Given the description of an element on the screen output the (x, y) to click on. 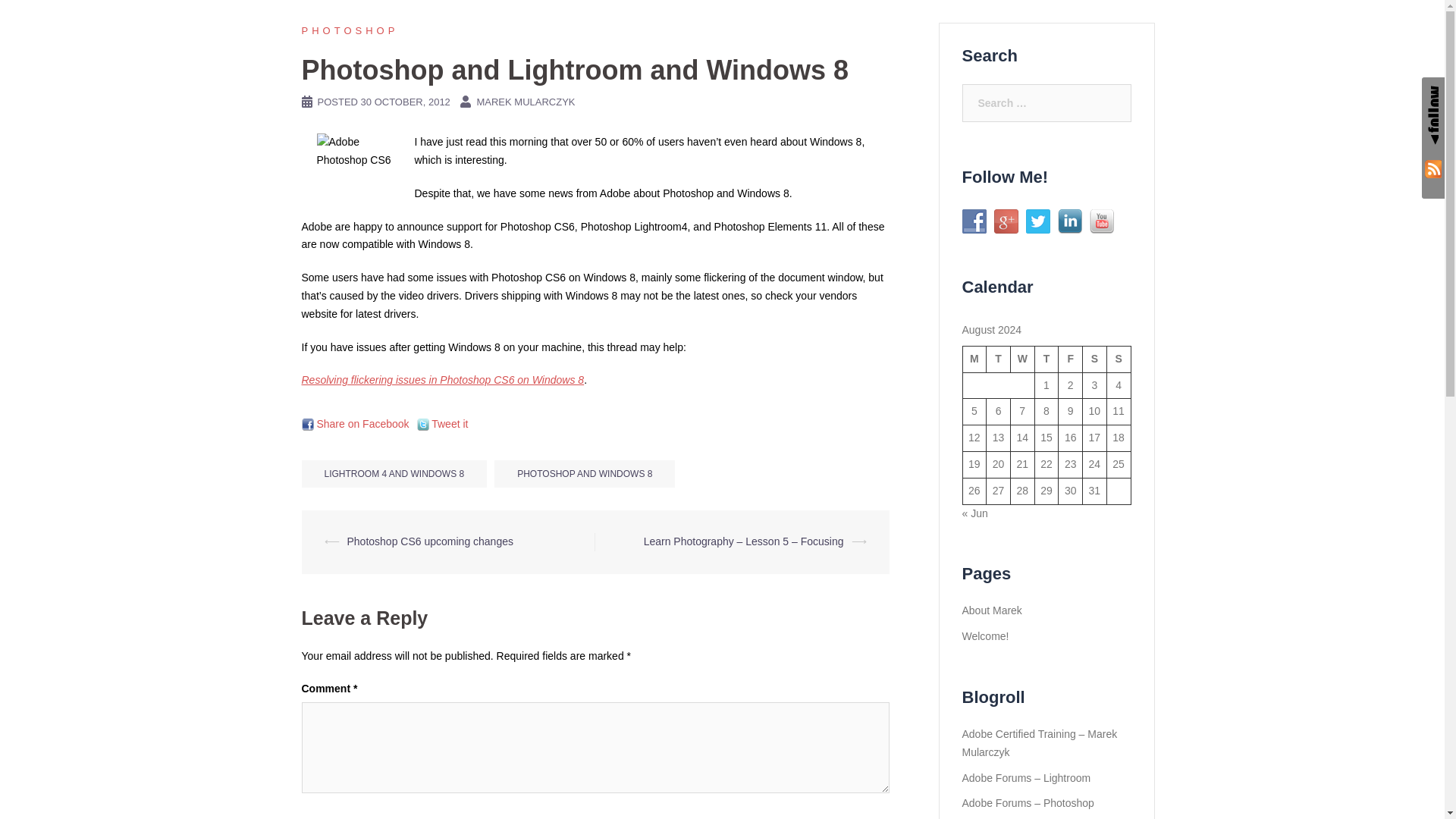
Follow Me on Twitter (1037, 221)
30 OCTOBER, 2012 (405, 101)
Photoshop (349, 30)
PHOTOSHOP AND WINDOWS 8 (585, 473)
Home (1047, 35)
Monday (974, 358)
About Marek (1112, 35)
Welcome! (984, 635)
Thursday (1045, 358)
LIGHTROOM 4 AND WINDOWS 8 (394, 473)
